Given the description of an element on the screen output the (x, y) to click on. 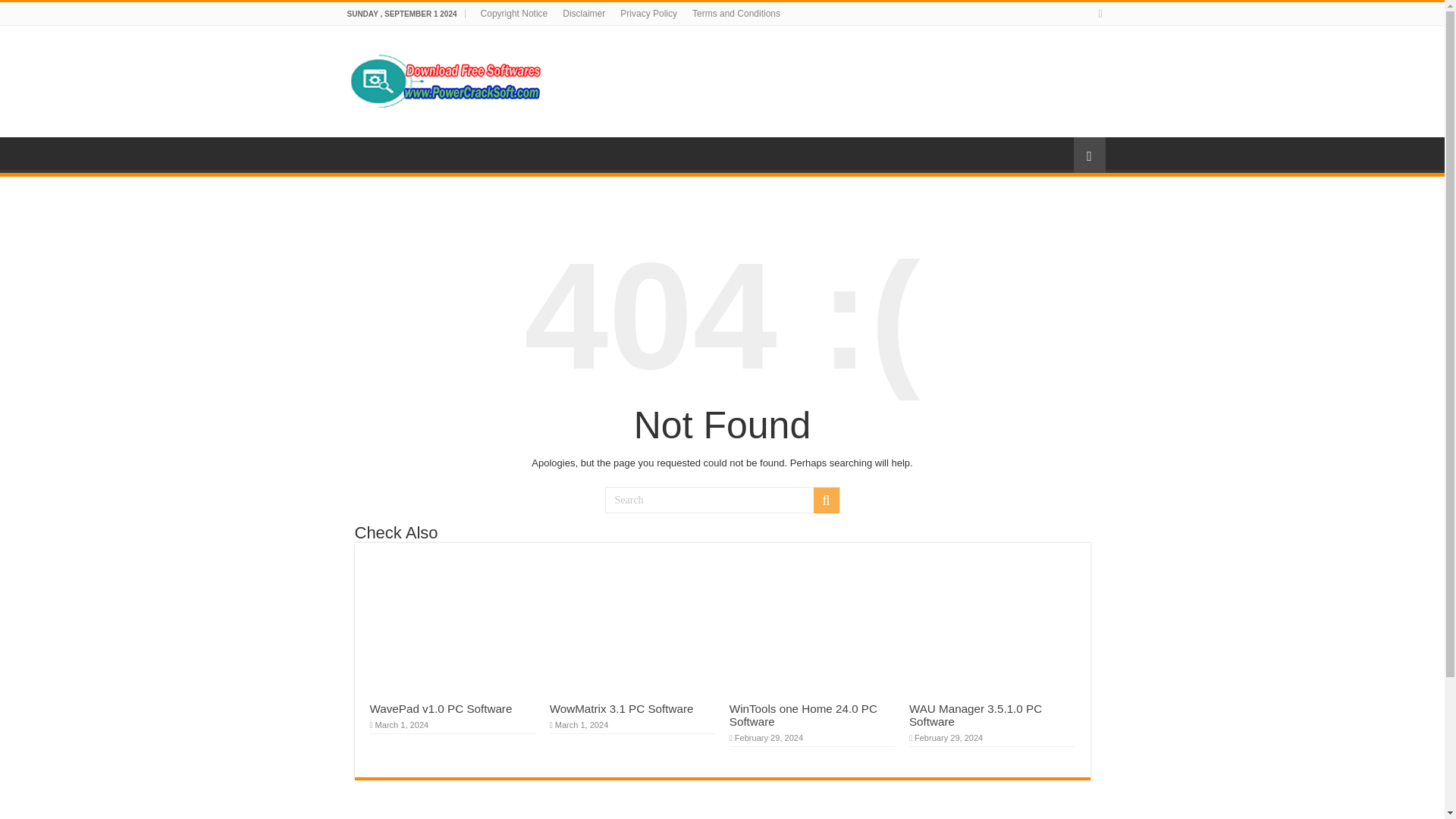
WAU Manager 3.5.1.0 PC Software (975, 714)
Disclaimer (583, 13)
Privacy Policy (648, 13)
WavePad v1.0 PC Software (440, 707)
Terms and Conditions (735, 13)
Copyright Notice (514, 13)
Random Article (1089, 154)
Search (722, 499)
Search (825, 500)
WowMatrix 3.1 PC Software (622, 707)
